Given the description of an element on the screen output the (x, y) to click on. 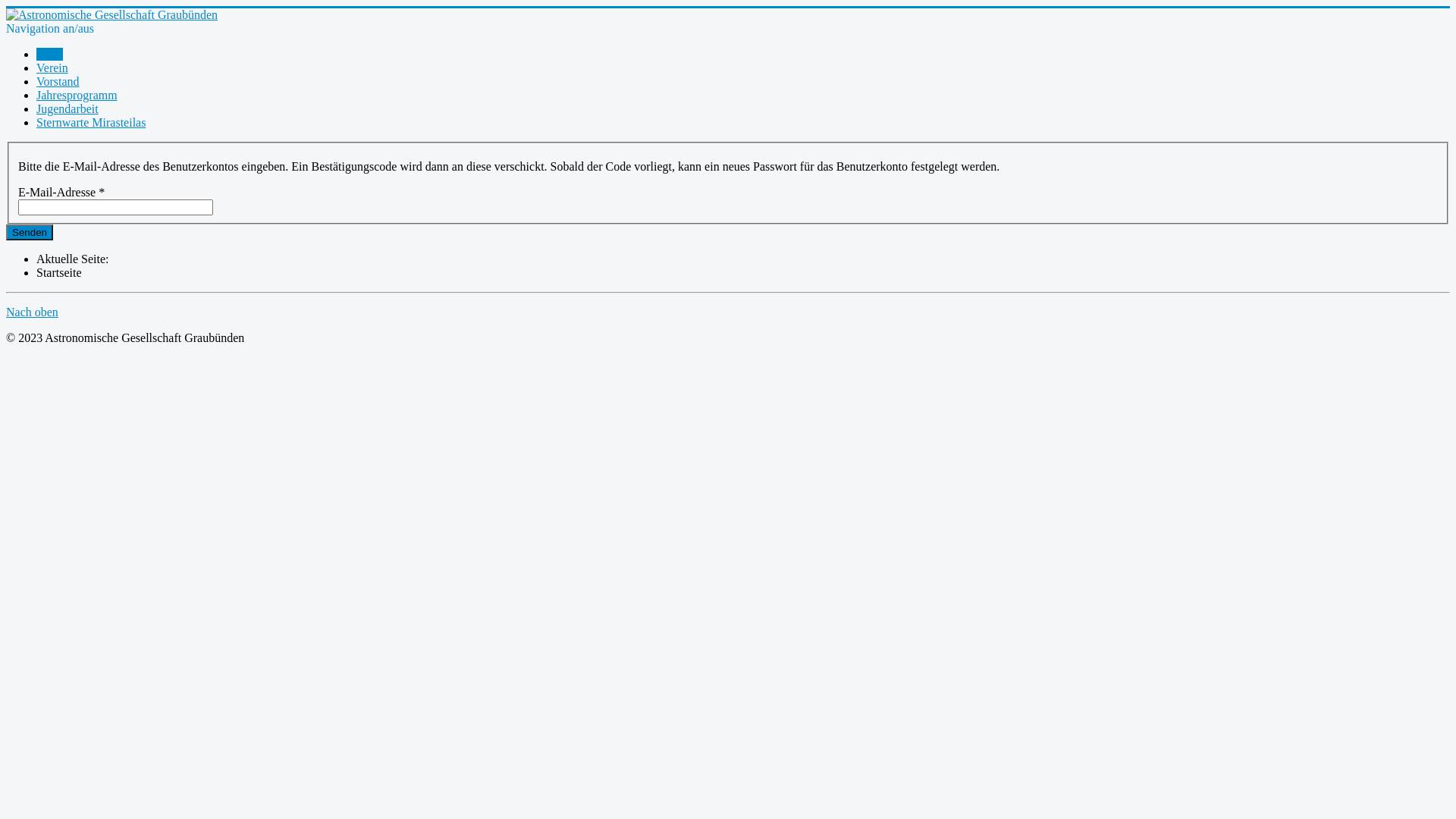
Jahresprogramm Element type: text (76, 94)
Jugendarbeit Element type: text (67, 108)
Vorstand Element type: text (57, 81)
AGG Element type: text (49, 53)
Verein Element type: text (52, 67)
Navigation an/aus Element type: text (50, 27)
Sternwarte Mirasteilas Element type: text (90, 122)
Senden Element type: text (29, 232)
Nach oben Element type: text (32, 311)
